Given the description of an element on the screen output the (x, y) to click on. 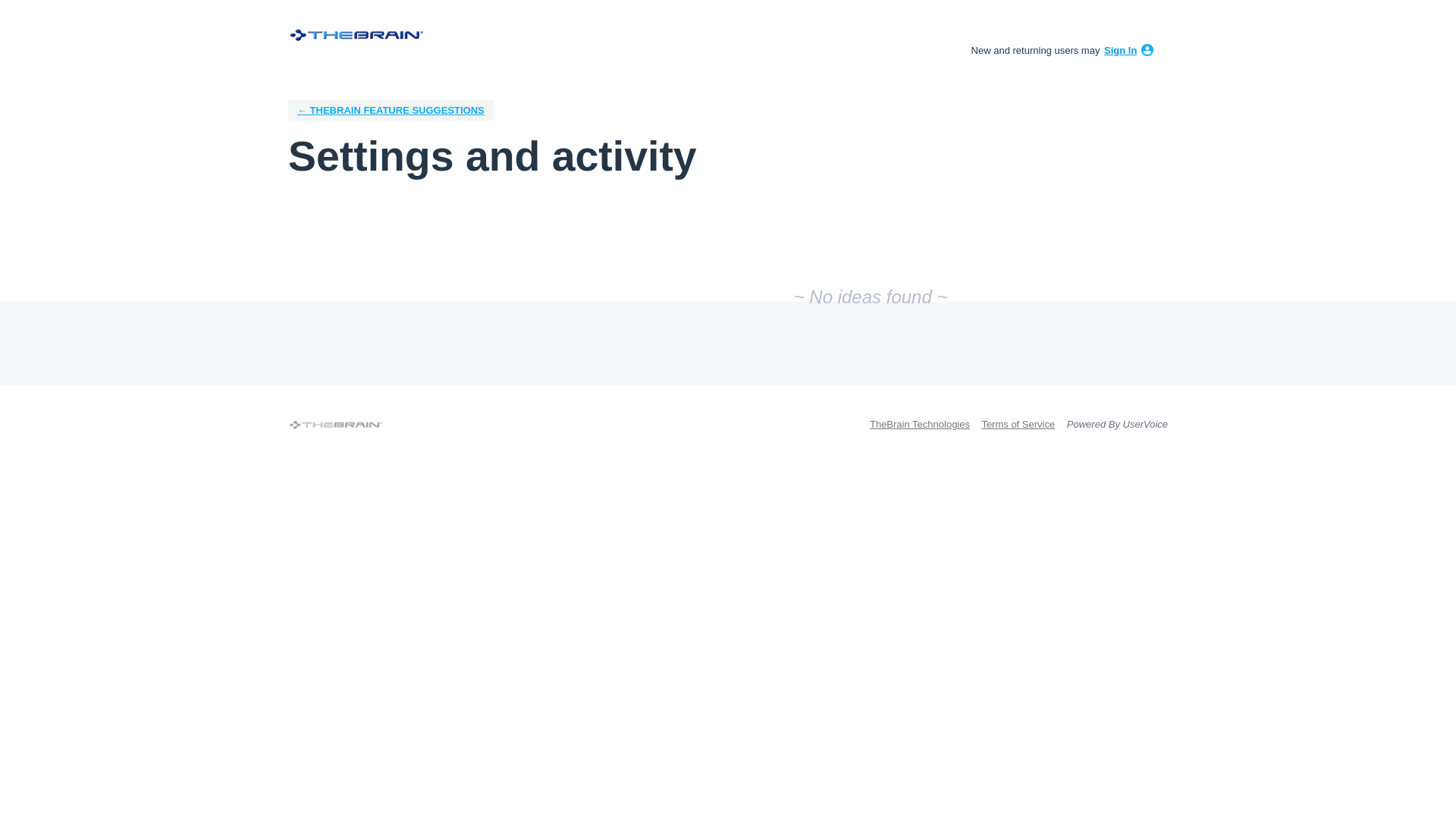
TheBrain Feature Suggestions (356, 34)
Terms of Service (1017, 423)
TheBrain Technologies (919, 423)
TheBrain Feature Suggestions (390, 109)
Sign In (1120, 50)
